Given the description of an element on the screen output the (x, y) to click on. 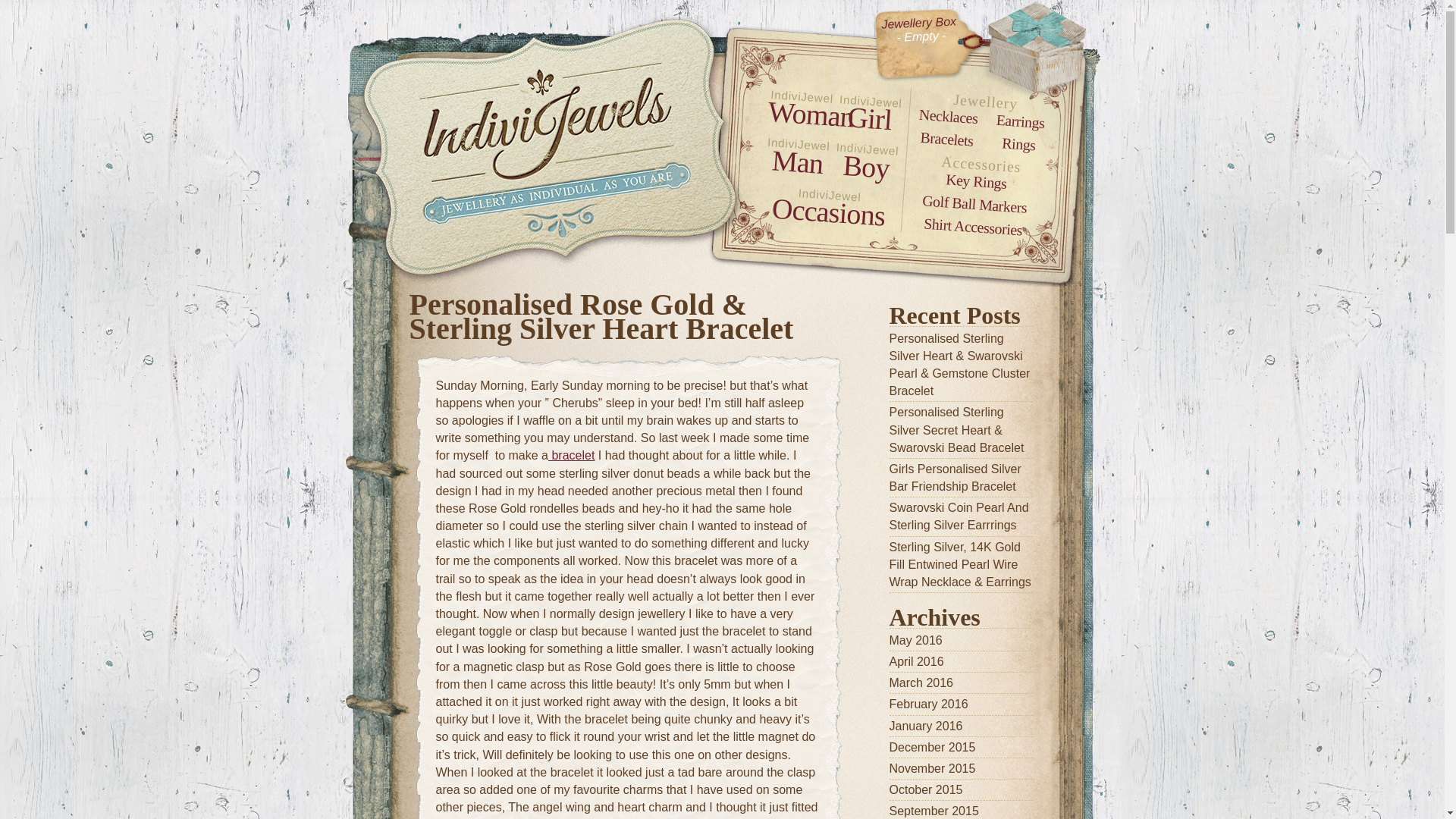
Key Rings (975, 176)
Woman (799, 111)
Golf Ball Markers (973, 199)
bracelet (571, 454)
Bracelets (945, 136)
Man (795, 159)
Rings (1017, 141)
Girl (868, 116)
Shirt Accessories (972, 221)
Earrings (1018, 118)
Boy (865, 164)
Occasions (827, 207)
Necklaces (947, 113)
